Given the description of an element on the screen output the (x, y) to click on. 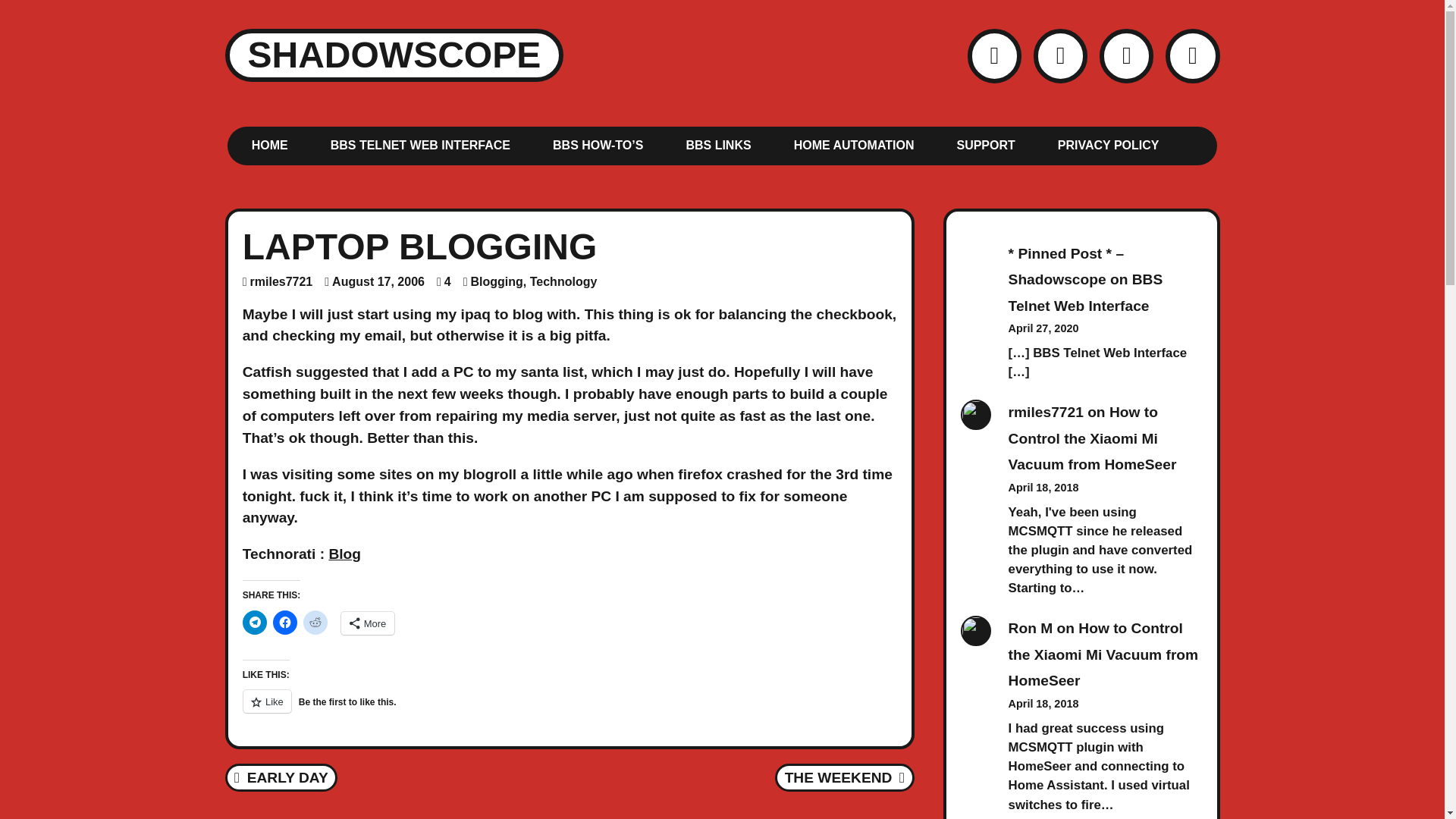
Technology (562, 281)
Click to share on Facebook (285, 622)
Blogging (496, 281)
HOME AUTOMATION (853, 144)
Click to share on Telegram (254, 622)
YouTube (281, 777)
SHADOWSCOPE (844, 777)
August 17, 2006 (1126, 55)
LastFM (393, 55)
rmiles7721 (378, 281)
PRIVACY POLICY (1193, 55)
HOME (281, 281)
BBS TELNET WEB INTERFACE (1108, 144)
